Given the description of an element on the screen output the (x, y) to click on. 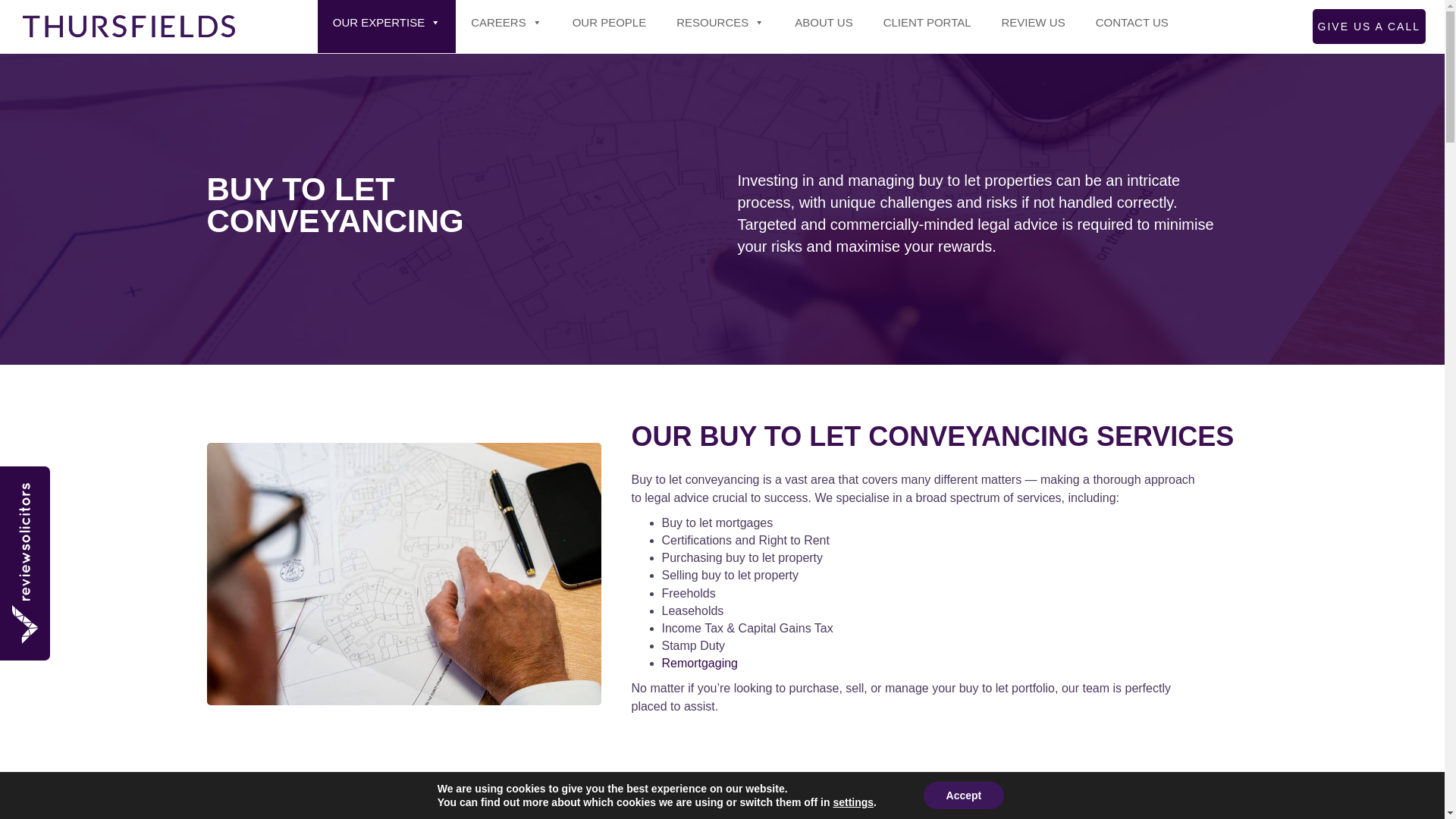
Thursfields logo simple (128, 26)
OUR EXPERTISE (386, 26)
